Given the description of an element on the screen output the (x, y) to click on. 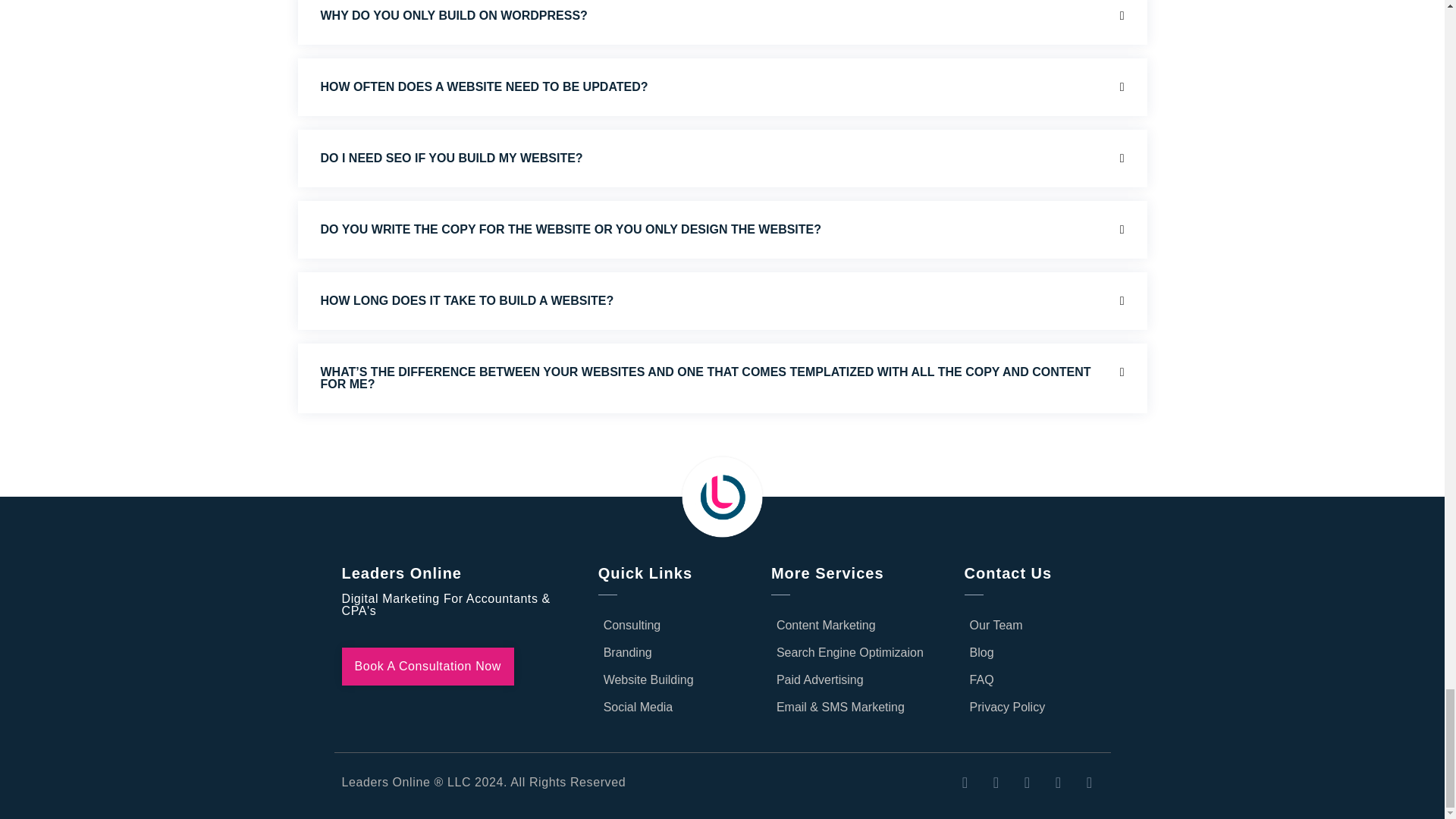
WHY DO YOU ONLY BUILD ON WORDPRESS? (453, 15)
DO I NEED SEO IF YOU BUILD MY WEBSITE? (451, 157)
HOW OFTEN DOES A WEBSITE NEED TO BE UPDATED? (483, 86)
